Given the description of an element on the screen output the (x, y) to click on. 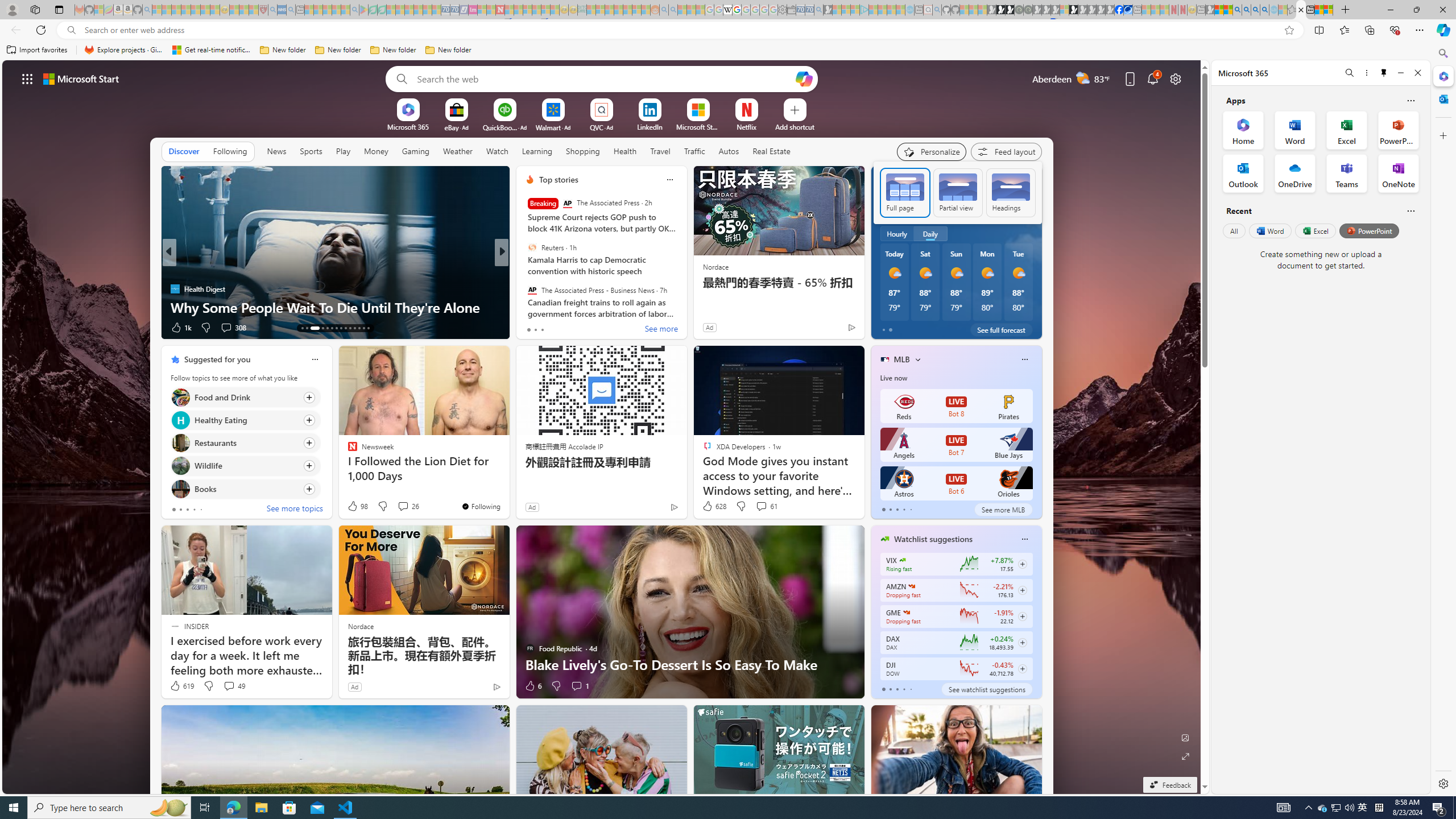
View comments 13 Comment (585, 327)
28 Like (530, 327)
Mostly sunny (1018, 273)
View comments 26 Comment (408, 505)
1k Like (180, 327)
Is this helpful? (1410, 210)
Traffic (694, 151)
View comments 31 Comment (580, 327)
